Given the description of an element on the screen output the (x, y) to click on. 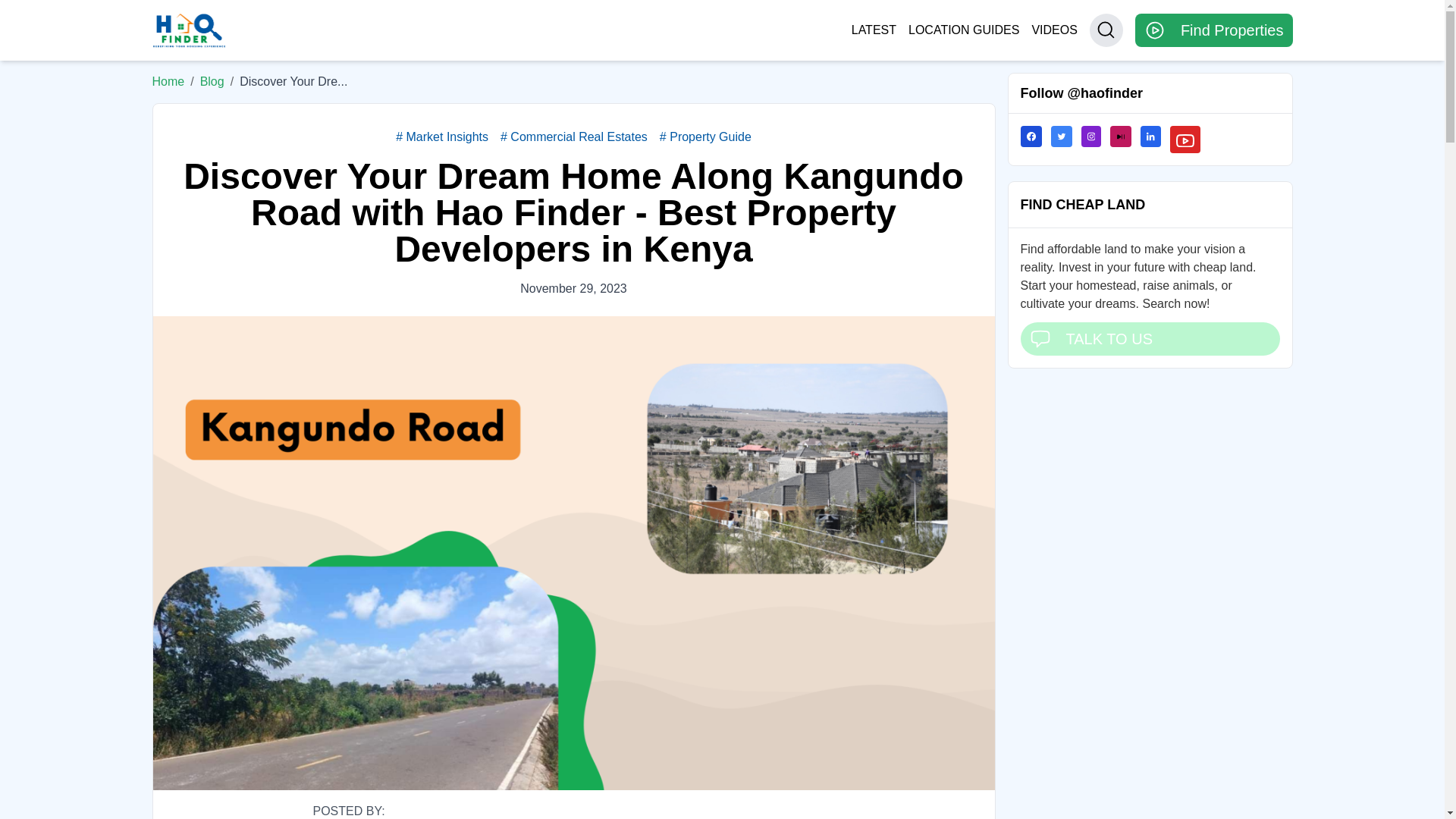
Hao Finder on Youtube (1189, 139)
LOCATION GUIDES (963, 30)
Hao Finder on X-Twitter (1066, 139)
Blog (212, 81)
VIDEOS (1053, 30)
Hao Finder on Tiktok (1124, 139)
TALK TO US (1149, 338)
Find Properties (1213, 29)
Hao Finder on Linkedin (1155, 139)
LATEST (873, 30)
